Given the description of an element on the screen output the (x, y) to click on. 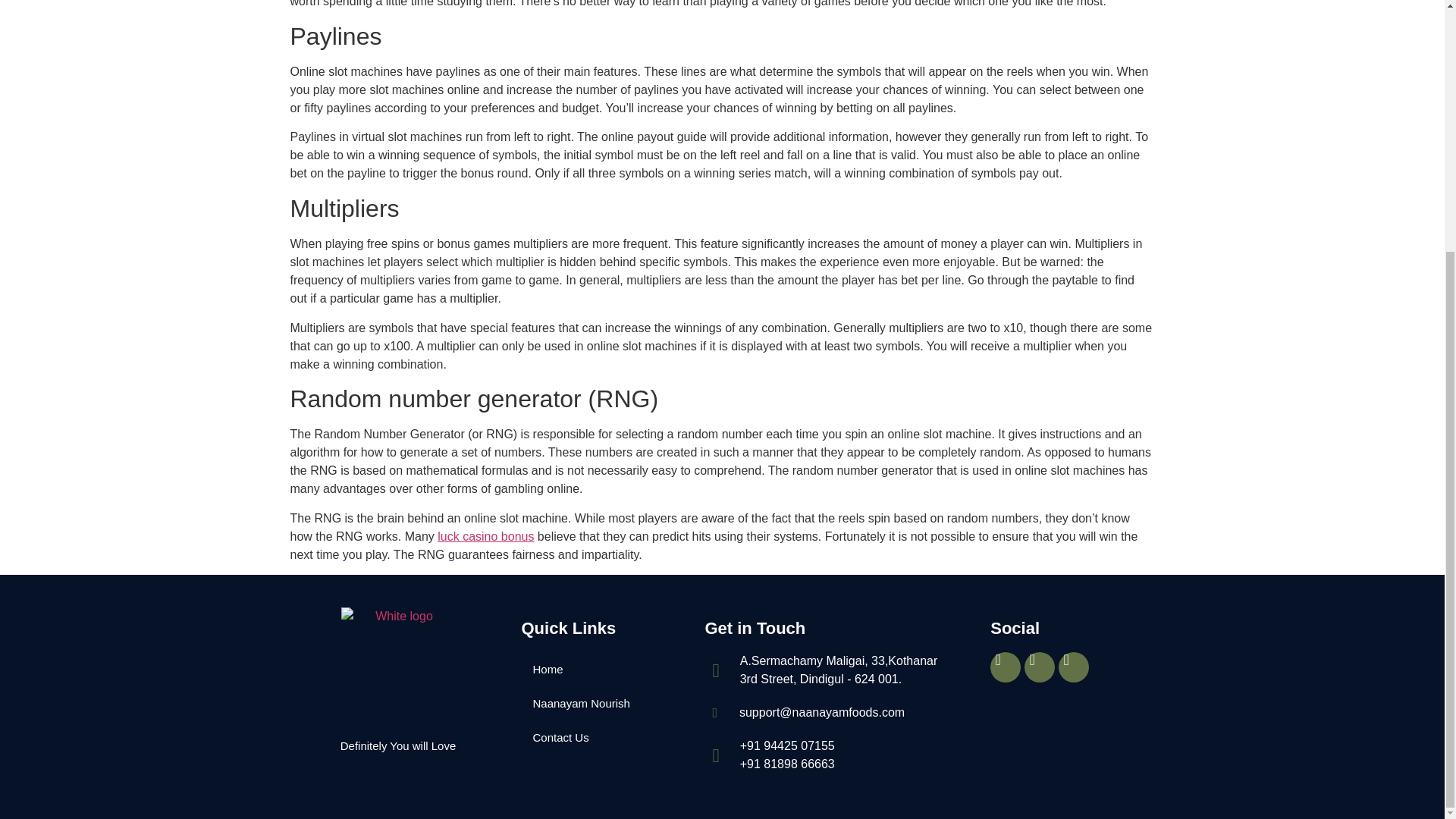
luck casino bonus (486, 535)
Home (605, 668)
Naanayam Nourish (605, 703)
Contact Us (605, 737)
